Given the description of an element on the screen output the (x, y) to click on. 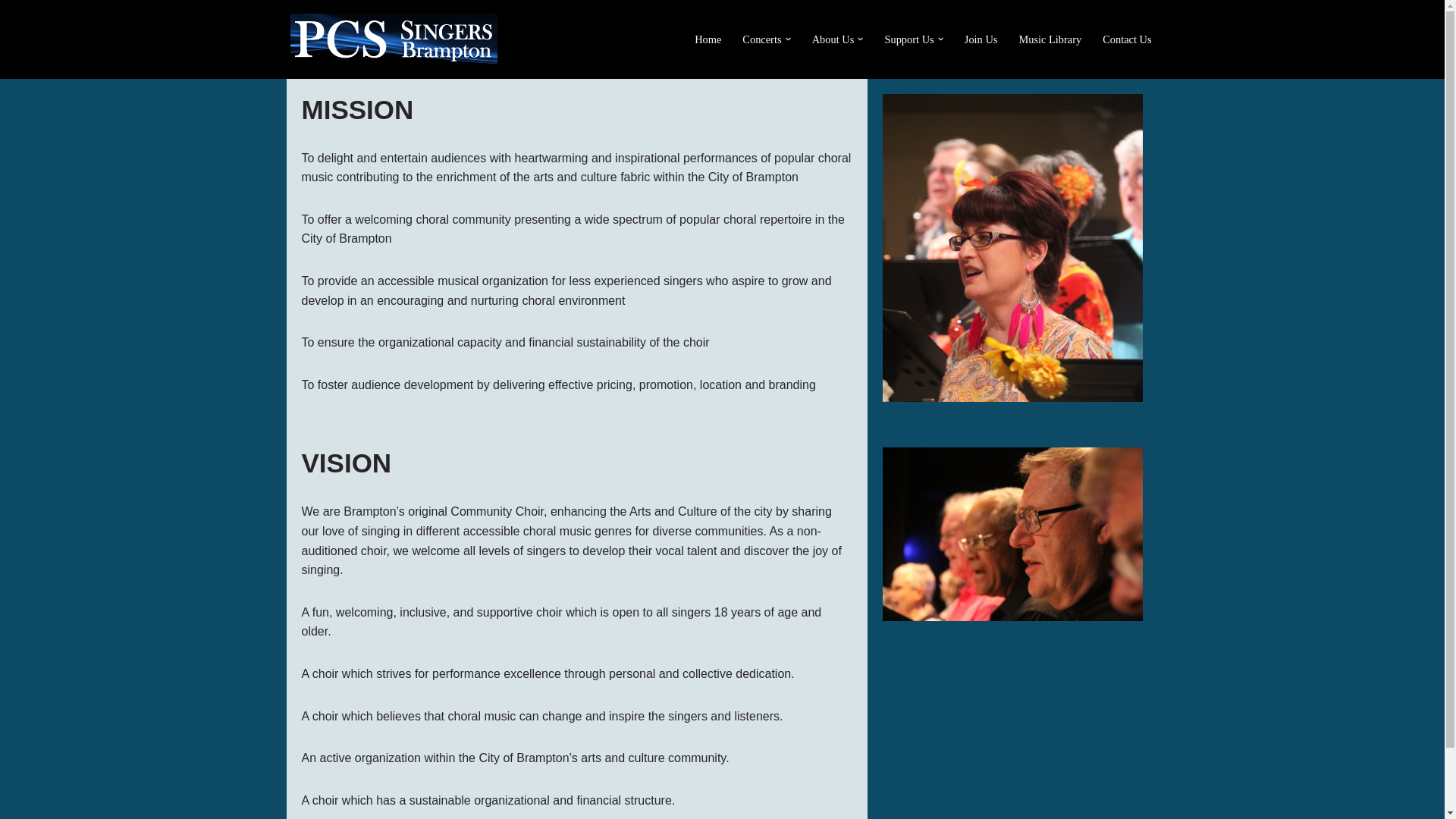
Contact Us (1126, 38)
Concerts (761, 38)
Music Library (1049, 38)
Join Us (980, 38)
Support Us (908, 38)
Home (707, 38)
About Us (833, 38)
Skip to content (11, 31)
